Given the description of an element on the screen output the (x, y) to click on. 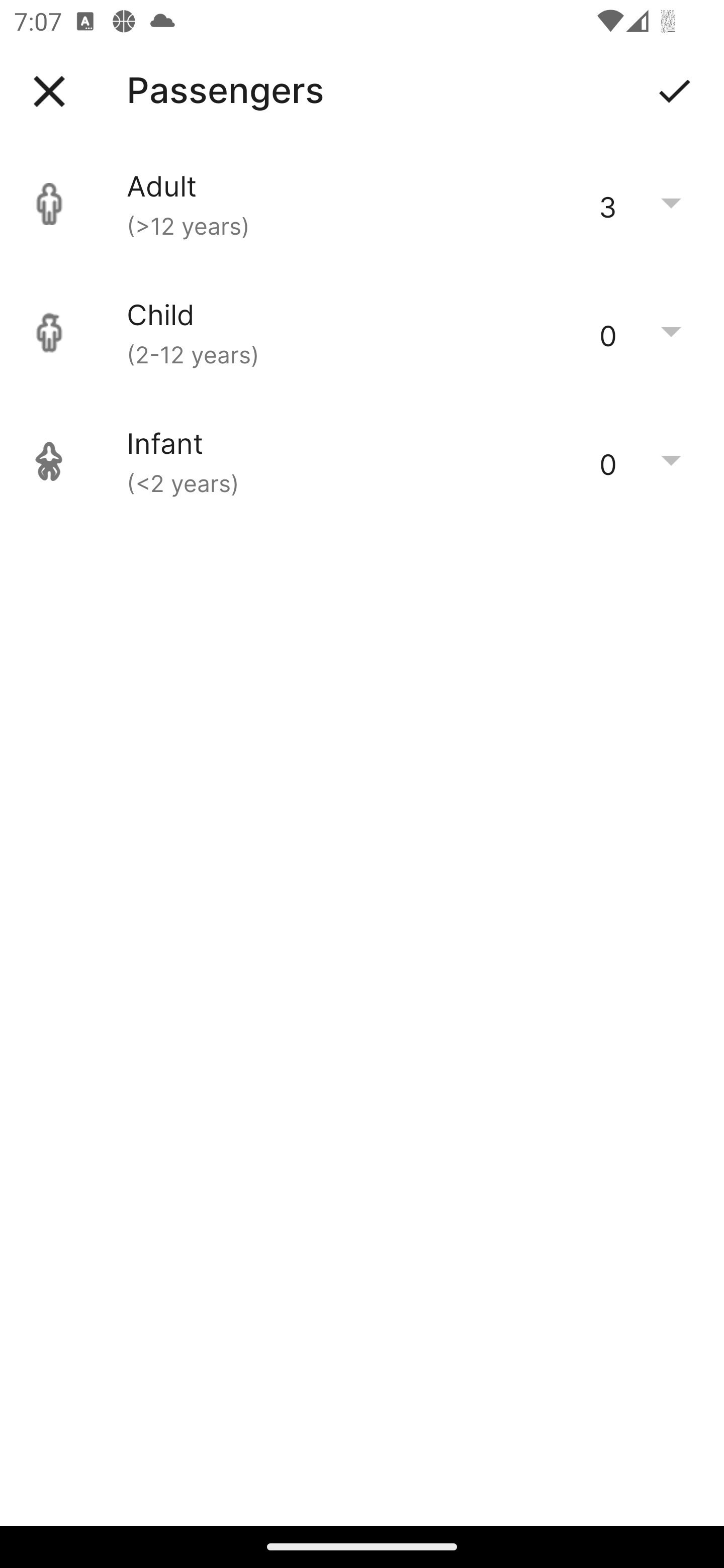
Adult (>12 years) 3 (362, 204)
Child (2-12 years) 0 (362, 332)
Infant (<2 years) 0 (362, 461)
